Given the description of an element on the screen output the (x, y) to click on. 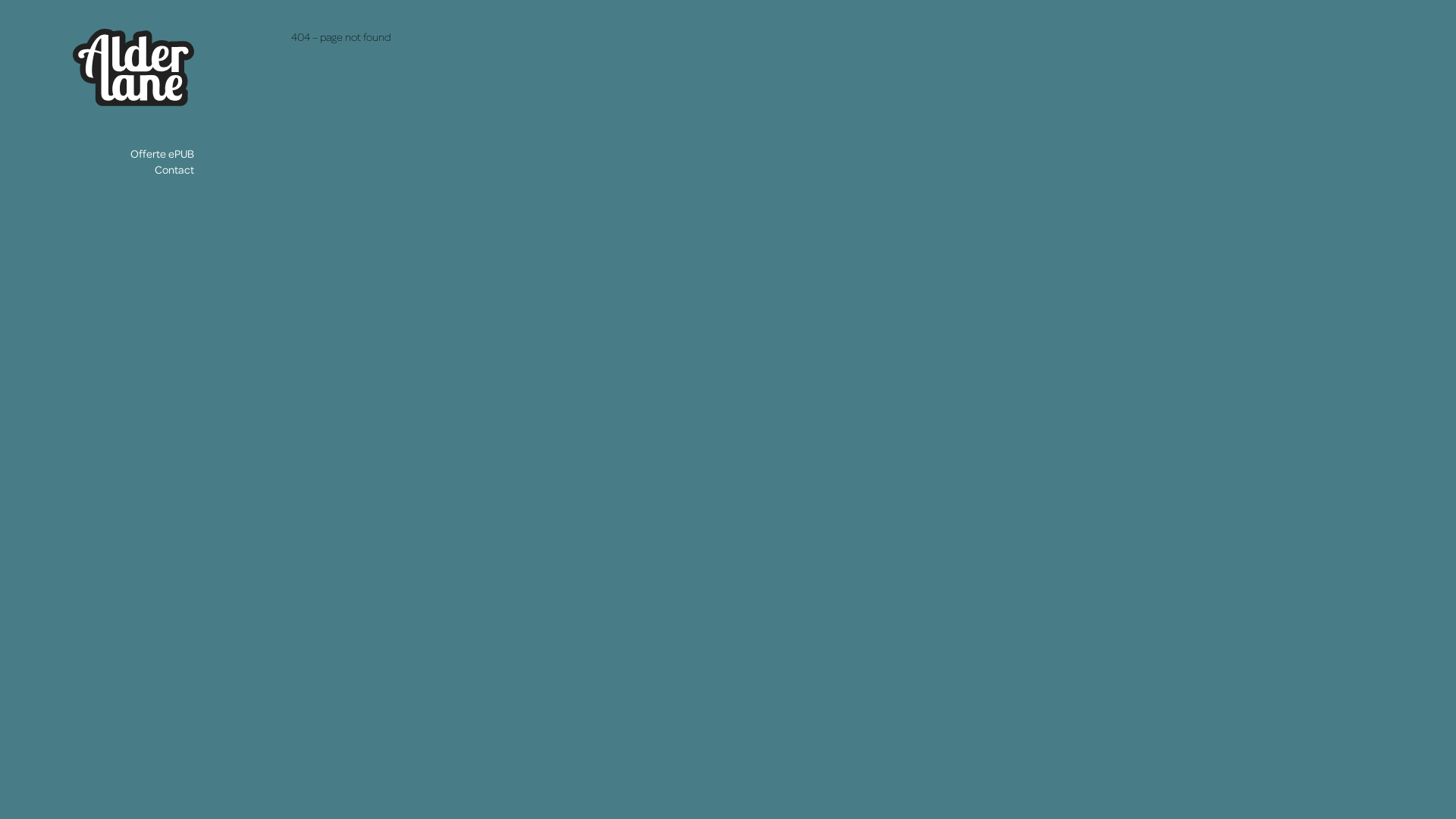
Offerte ePUB Element type: text (162, 153)
Alderlane Element type: hover (133, 101)
Contact Element type: text (174, 169)
